Given the description of an element on the screen output the (x, y) to click on. 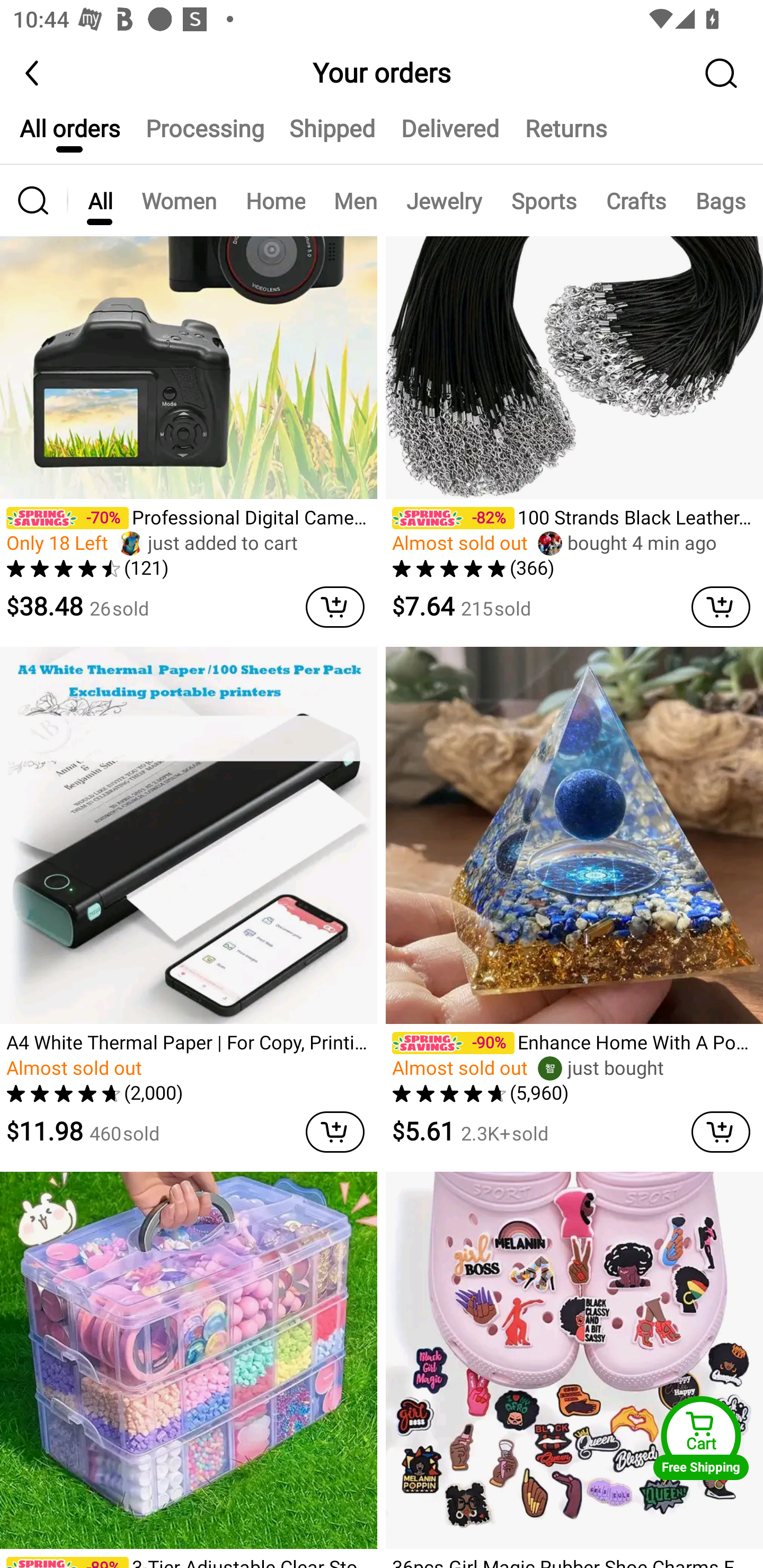
back (41, 72)
All orders (69, 135)
Processing (204, 135)
Shipped (331, 135)
Delivered (449, 135)
Returns (565, 135)
All (99, 200)
Women (178, 200)
Home (275, 200)
Men (355, 200)
Jewelry (443, 200)
Sports (543, 200)
Crafts (635, 200)
Bags (719, 200)
cart delete (334, 606)
cart delete (720, 606)
cart delete (334, 1131)
cart delete (720, 1131)
Cart Free Shipping Cart (701, 1437)
